Given the description of an element on the screen output the (x, y) to click on. 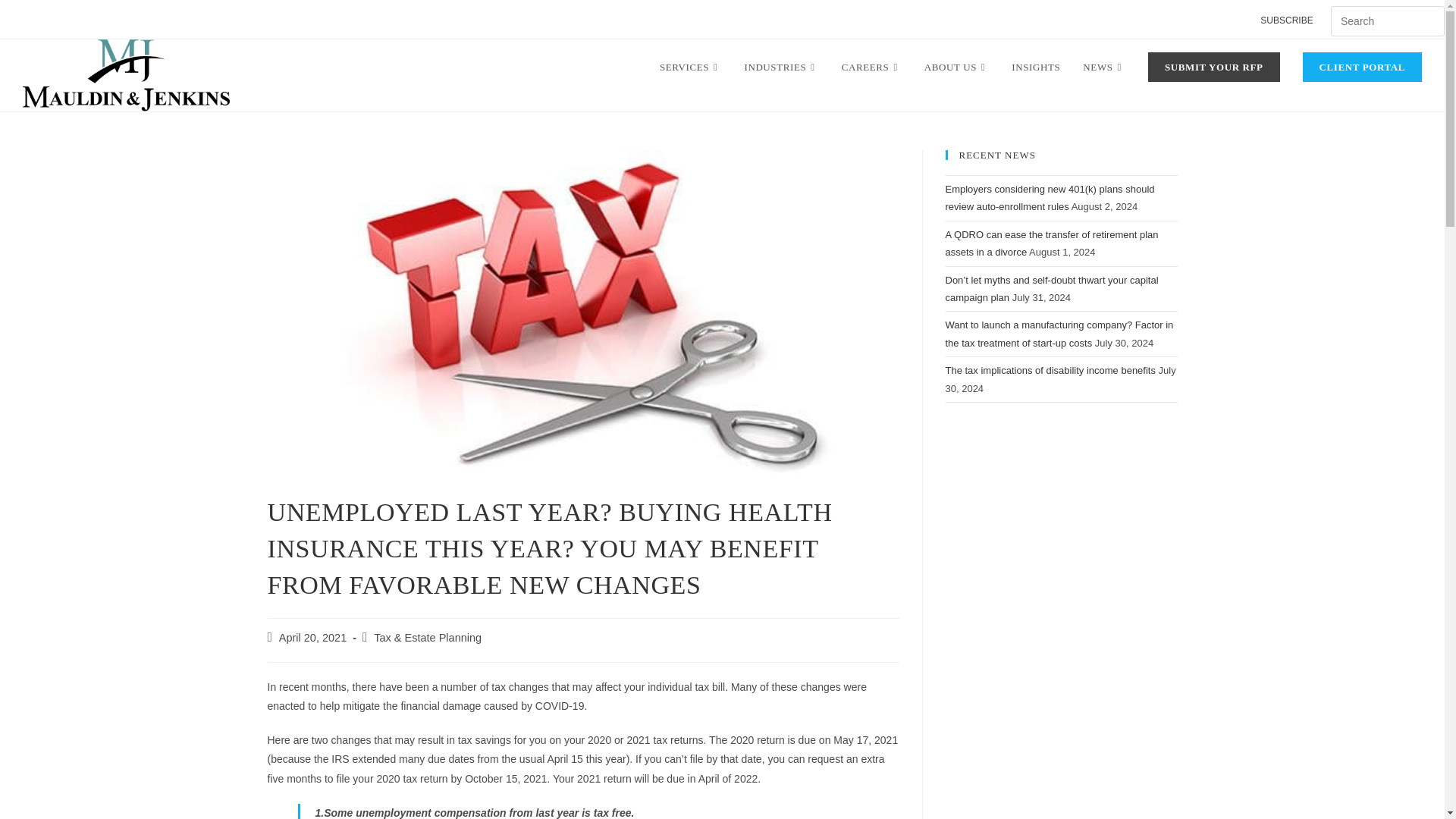
SERVICES (690, 67)
SUBSCRIBE (1286, 21)
